Given the description of an element on the screen output the (x, y) to click on. 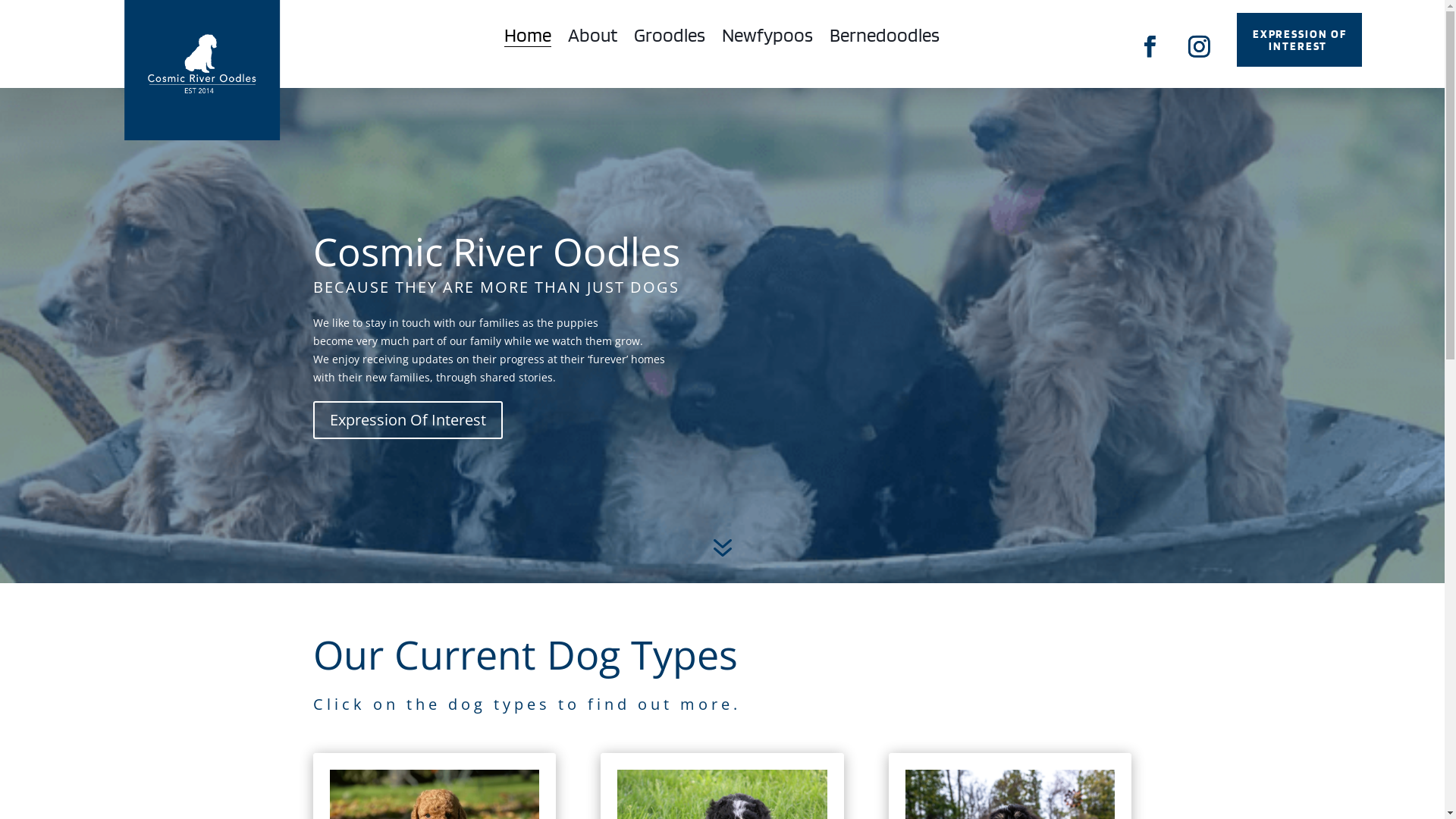
Bernedoodles Element type: text (884, 38)
7 Element type: text (721, 548)
Home Element type: text (527, 38)
Newfypoos Element type: text (766, 38)
Expression Of Interest Element type: text (407, 420)
Follow on Instagram Element type: hover (1199, 47)
About Element type: text (592, 38)
Cosmic River2020 Element type: hover (201, 72)
Groodles Element type: text (669, 38)
Follow on Facebook Element type: hover (1150, 47)
